Given the description of an element on the screen output the (x, y) to click on. 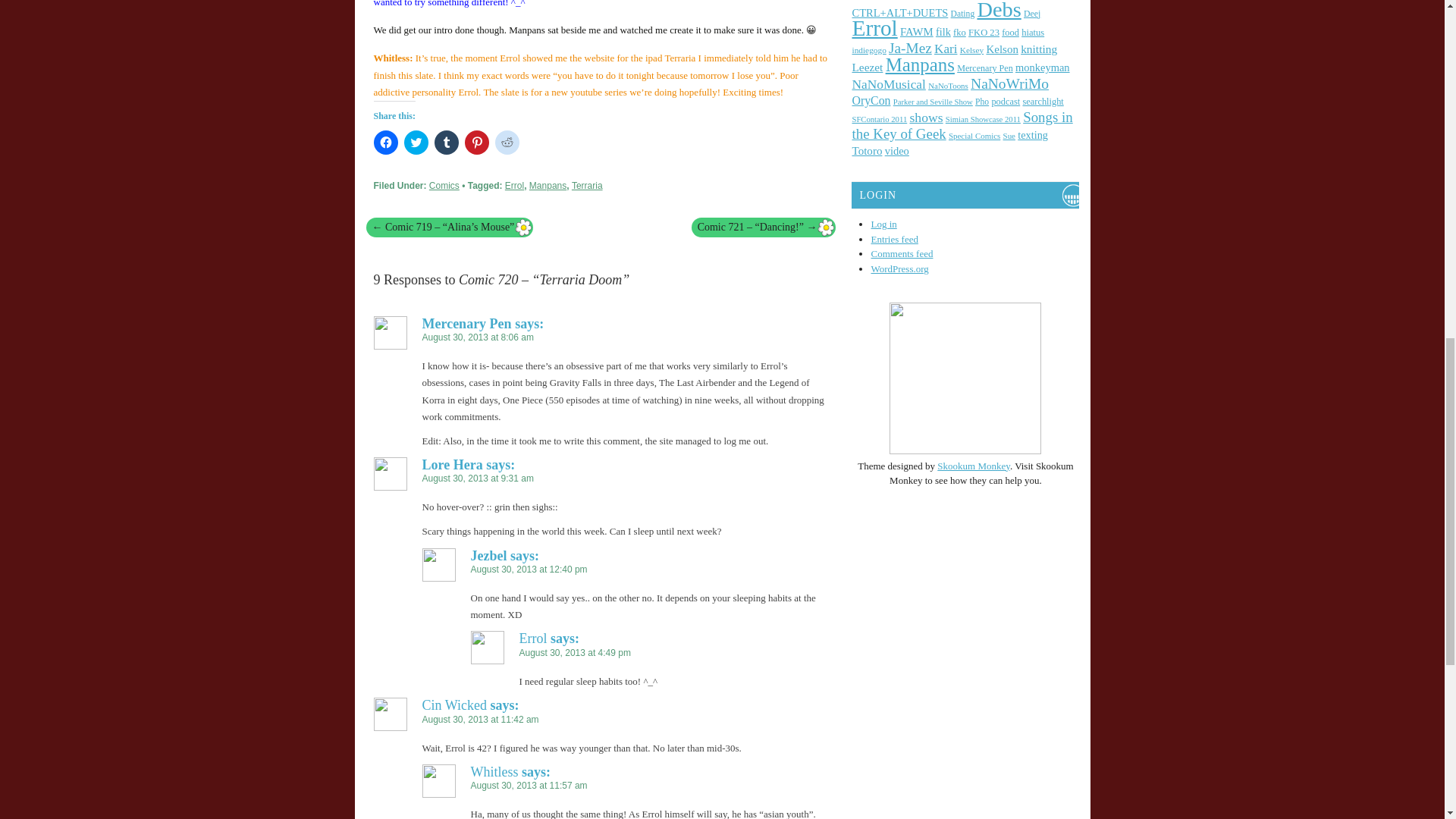
Click to share on Pinterest (475, 142)
Click to share on Reddit (506, 142)
Click to share on Facebook (384, 142)
Click to share on Twitter (415, 142)
Click to share on Tumblr (445, 142)
